Given the description of an element on the screen output the (x, y) to click on. 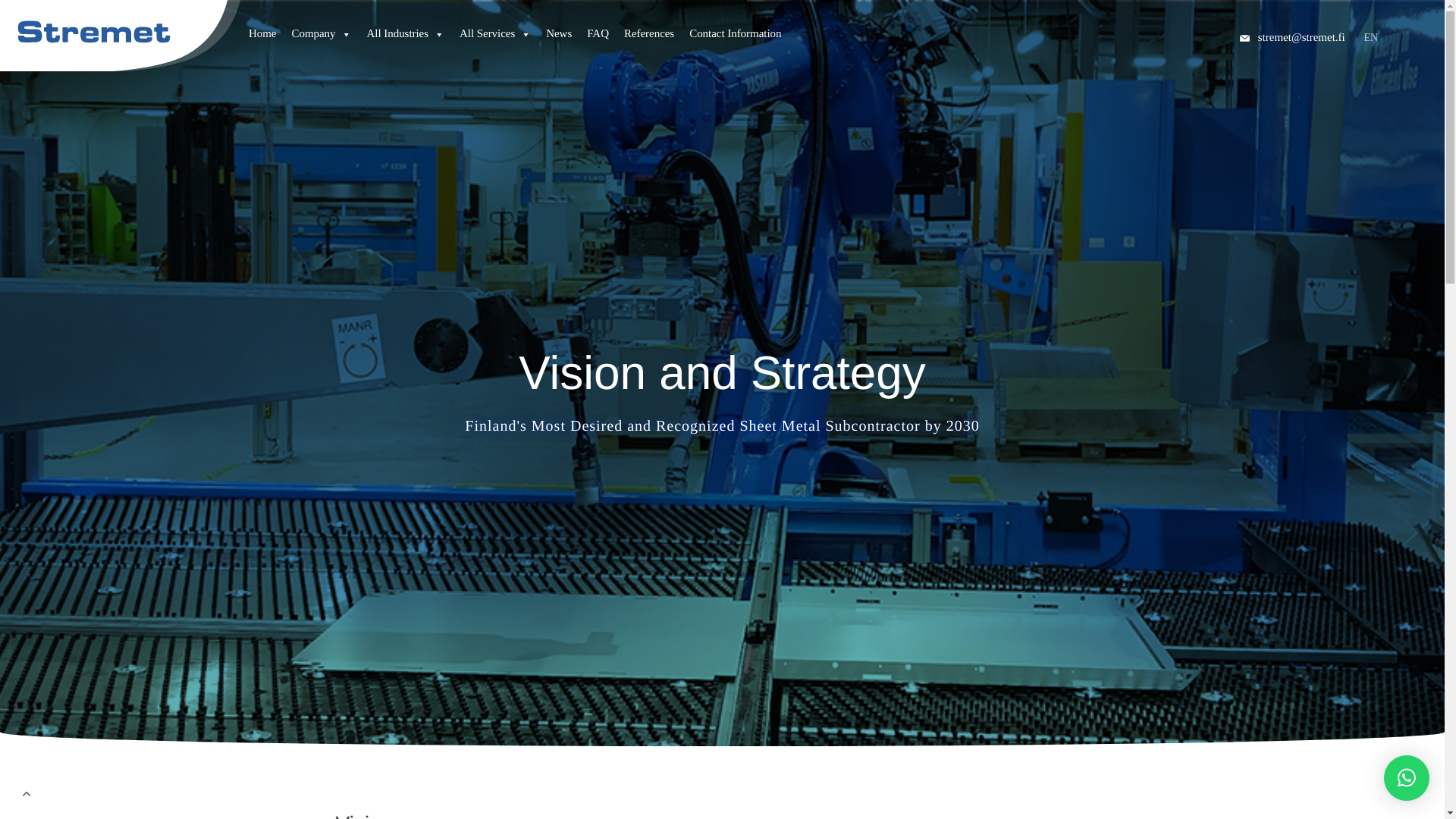
Stremet (120, 24)
All Services (494, 39)
Home (262, 39)
All Industries (405, 39)
Company (320, 39)
